Given the description of an element on the screen output the (x, y) to click on. 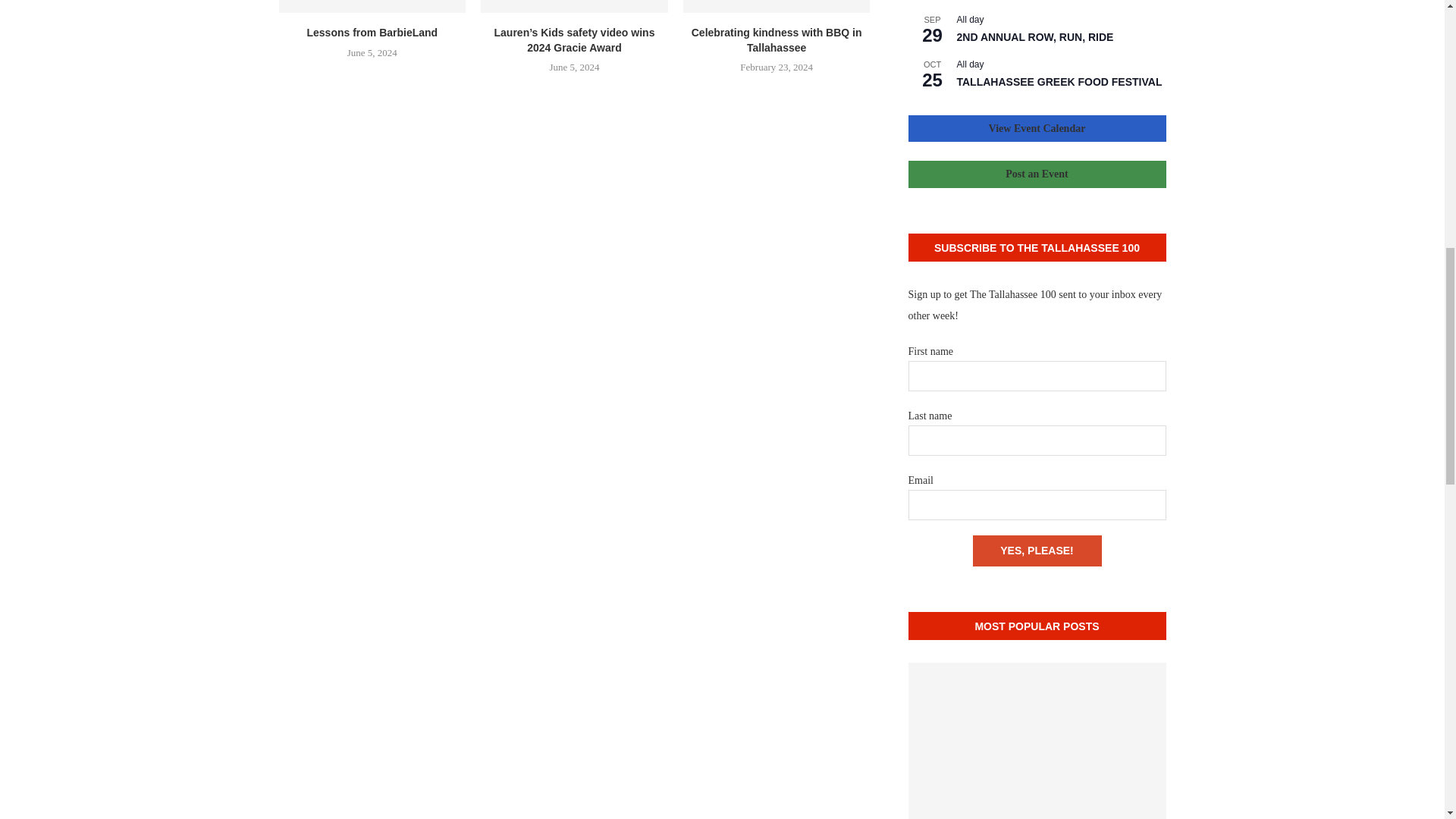
YES, PLEASE! (1036, 550)
Celebrating kindness with BBQ in Tallahassee (776, 6)
Lessons from BarbieLand (372, 6)
